Given the description of an element on the screen output the (x, y) to click on. 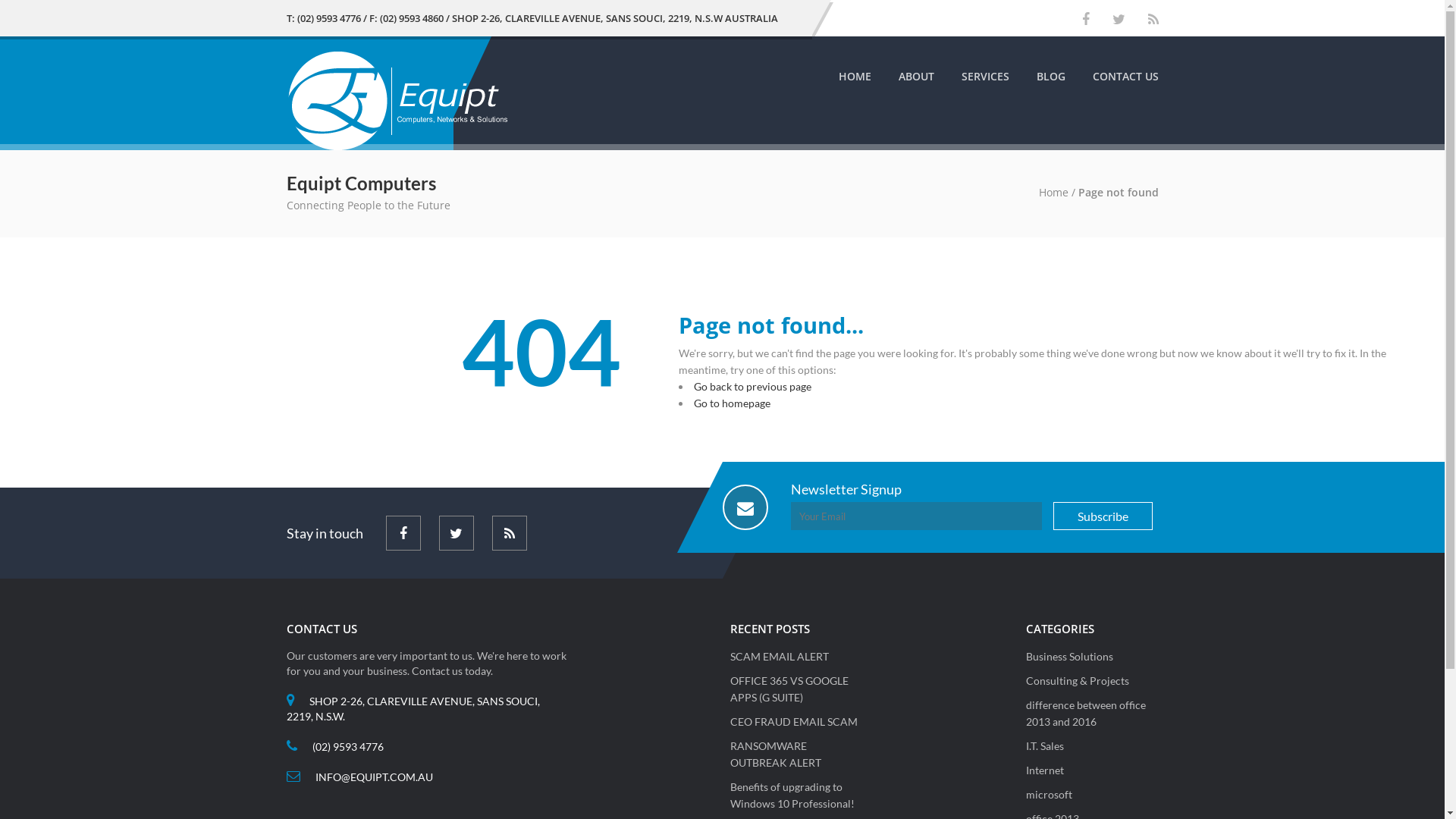
Business Solutions Element type: text (1068, 655)
Go back to previous page Element type: text (752, 385)
Benefits of upgrading to Windows 10 Professional! Element type: text (791, 794)
CONTACT US Element type: text (1124, 76)
Internet Element type: text (1044, 769)
Home Element type: text (1053, 192)
microsoft Element type: text (1048, 793)
RANSOMWARE OUTBREAK ALERT Element type: text (774, 753)
CEO FRAUD EMAIL SCAM Element type: text (792, 721)
OFFICE 365 VS GOOGLE APPS (G SUITE) Element type: text (788, 688)
Subscribe Element type: text (1102, 516)
RSS Element type: hover (1153, 19)
ABOUT Element type: text (915, 76)
difference between office 2013 and 2016 Element type: text (1085, 713)
Twitter Element type: hover (1117, 19)
Go to homepage Element type: text (731, 402)
SCAM EMAIL ALERT Element type: text (778, 655)
Page not found Element type: text (1118, 192)
SERVICES Element type: text (985, 76)
Facebook Element type: hover (1084, 19)
HOME Element type: text (854, 76)
Consulting & Projects Element type: text (1076, 680)
I.T. Sales Element type: text (1044, 745)
Twitter Element type: hover (455, 532)
Facebook Element type: hover (402, 532)
RSS Element type: hover (508, 532)
INFO@EQUIPT.COM.AU Element type: text (374, 776)
BLOG Element type: text (1049, 76)
